Given the description of an element on the screen output the (x, y) to click on. 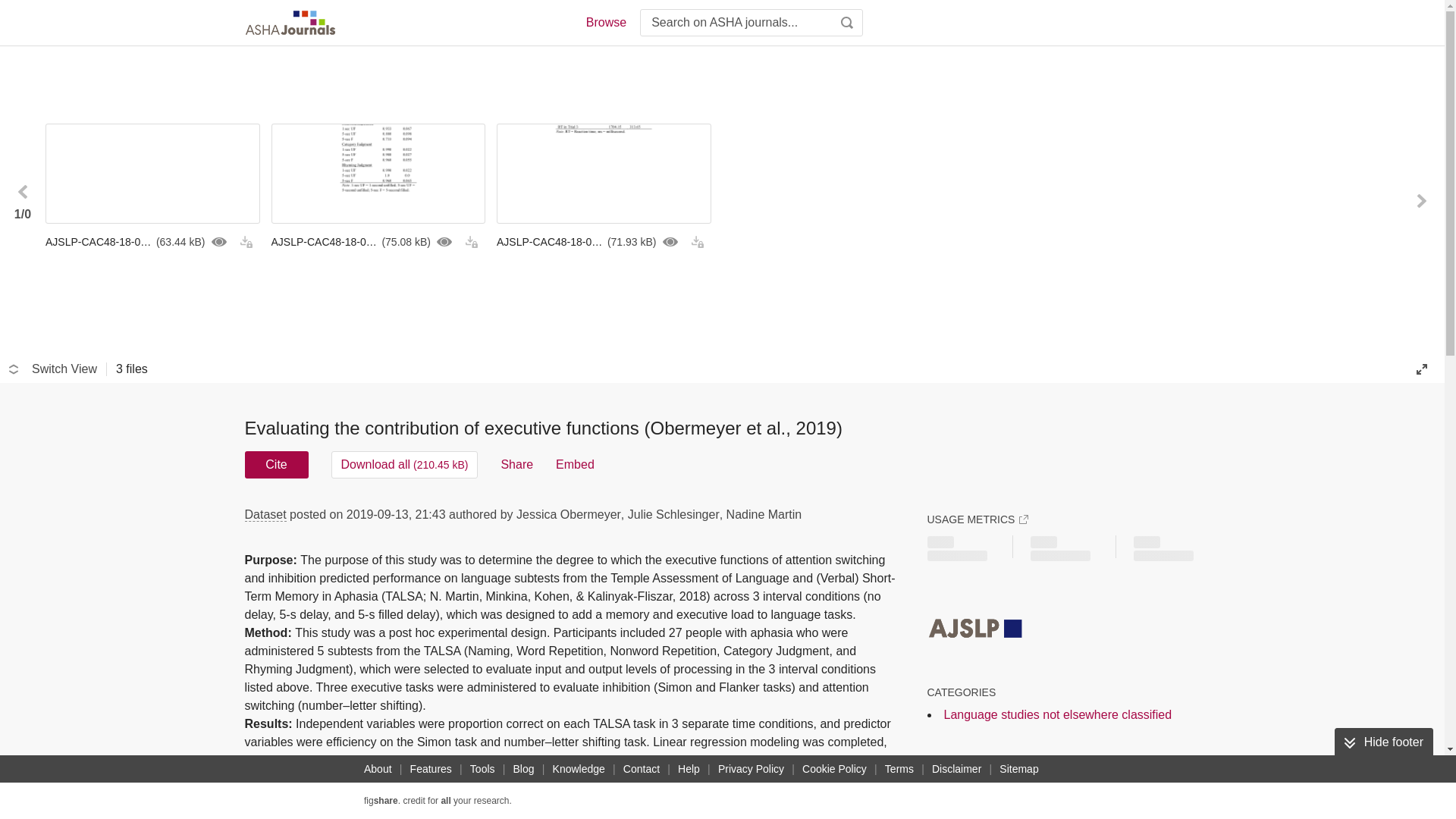
Browse (605, 22)
Language studies not elsewhere classified (1057, 714)
Share (516, 464)
aphasia (1136, 784)
Embed (575, 464)
Cite (275, 464)
speech-language pathology (1011, 784)
Switch View (52, 369)
USAGE METRICS (976, 519)
